Given the description of an element on the screen output the (x, y) to click on. 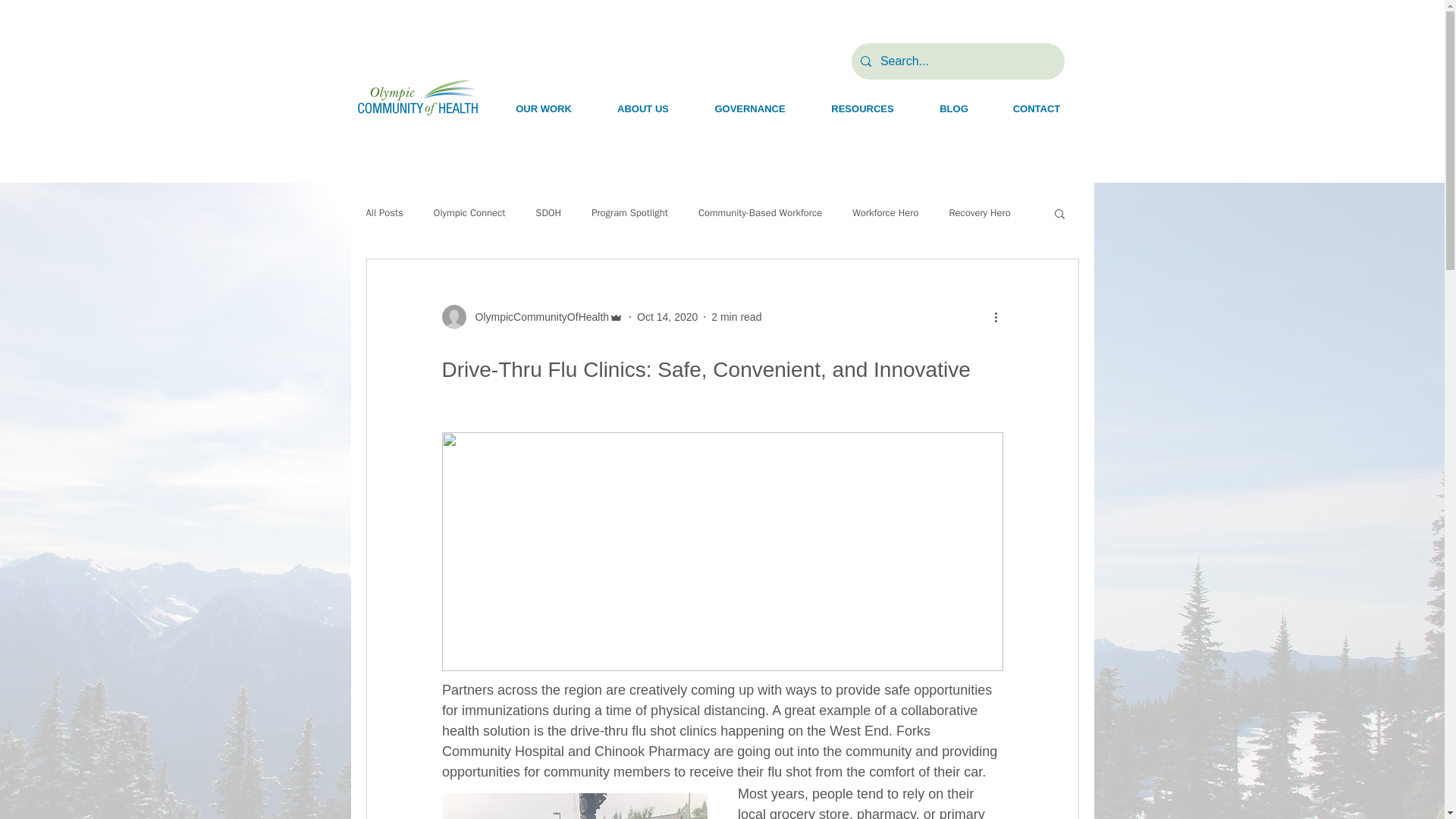
OlympicCommunityOfHealth (536, 317)
2 min read (736, 316)
CONTACT (1035, 108)
SDOH (547, 213)
ABOUT US (643, 108)
RESOURCES (862, 108)
Program Spotlight (629, 213)
GOVERNANCE (749, 108)
OlympicCommunityOfHealth (532, 316)
All Posts (384, 213)
Oct 14, 2020 (667, 316)
Workforce Hero (884, 213)
OUR WORK (543, 108)
Recovery Hero (979, 213)
BLOG (954, 108)
